Given the description of an element on the screen output the (x, y) to click on. 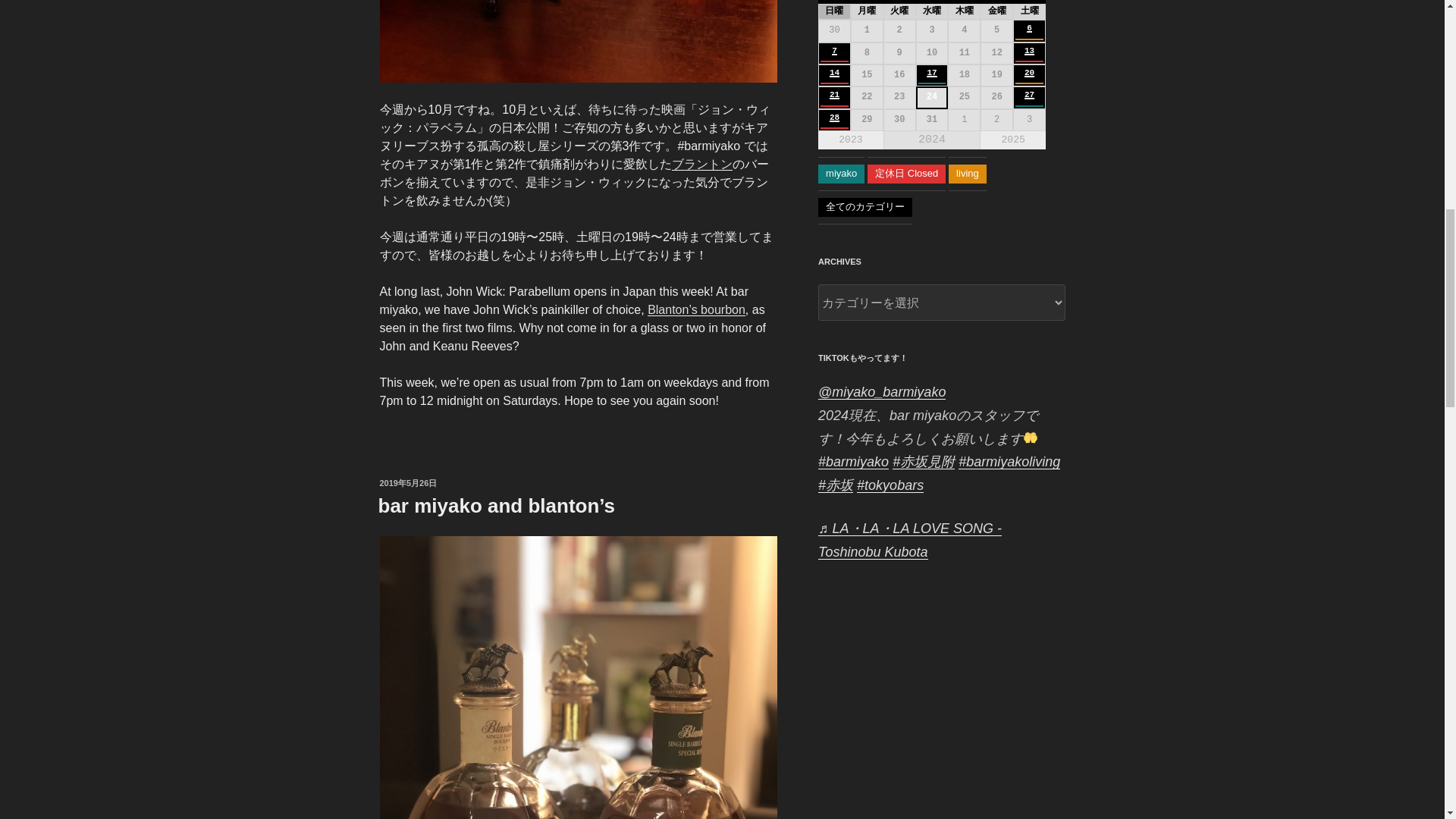
20 (1029, 71)
tokyobars (890, 485)
14 (834, 71)
barmiyakoliving (1008, 461)
13 (1029, 50)
28 (834, 117)
barmiyako (853, 461)
17 (931, 71)
27 (1029, 94)
21 (834, 94)
